Given the description of an element on the screen output the (x, y) to click on. 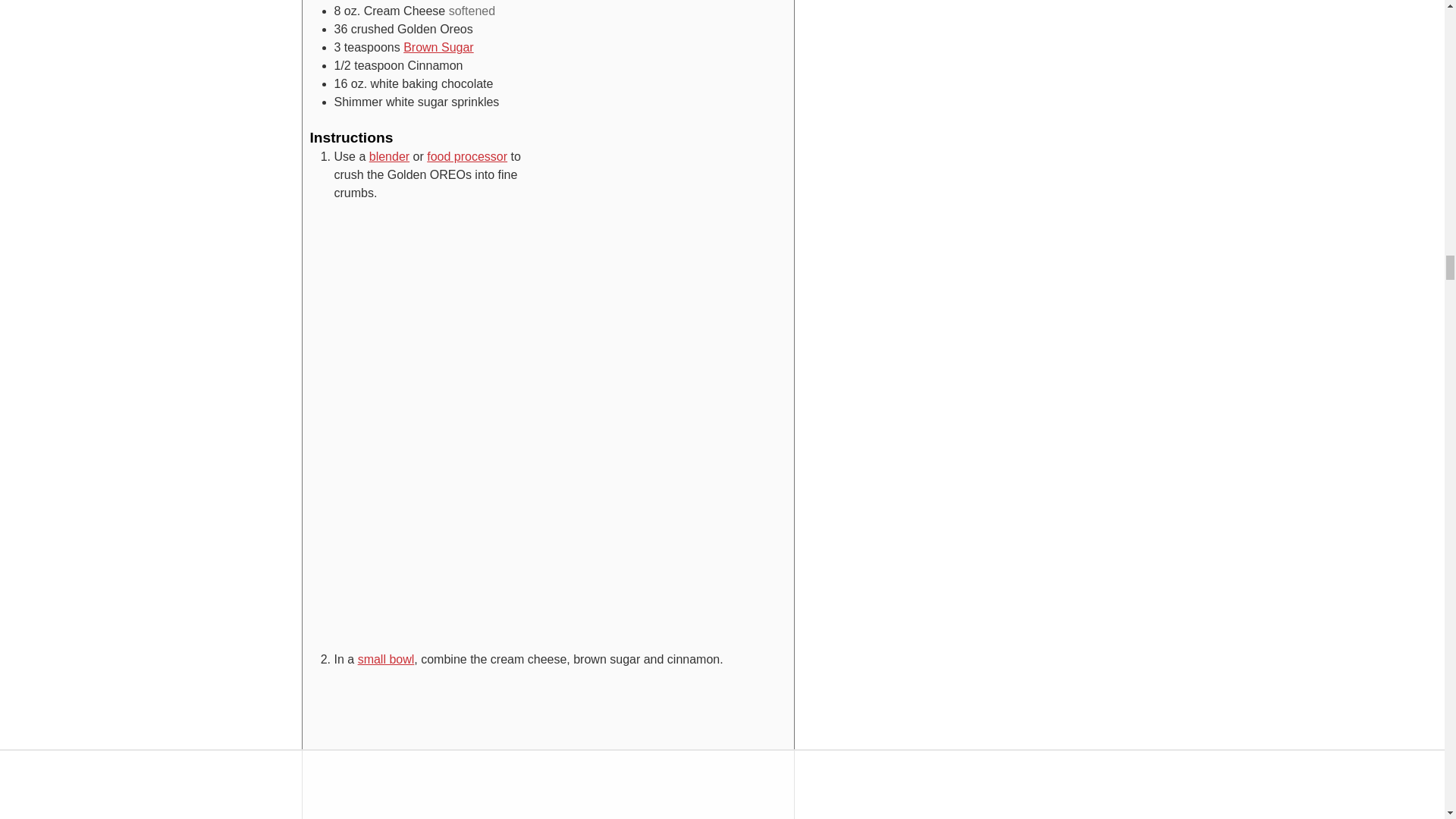
Blender (389, 155)
Food Processor (466, 155)
Mixing bowls (386, 658)
Brown Sugar (438, 47)
